Given the description of an element on the screen output the (x, y) to click on. 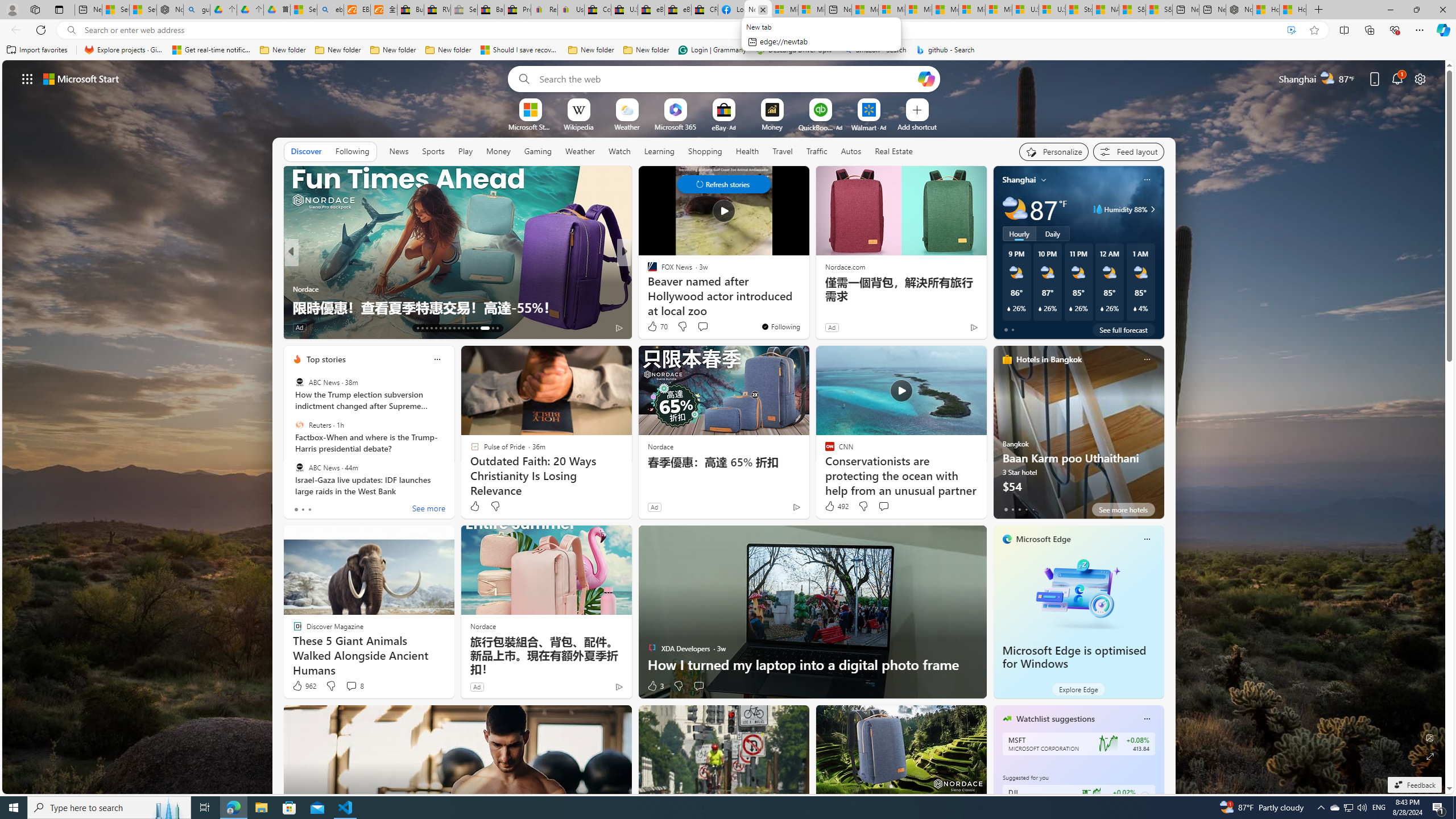
Notifications (1397, 78)
tab-0 (1005, 509)
Play (465, 151)
AutomationID: tab-20 (449, 328)
Sports (432, 151)
Class: weather-current-precipitation-glyph (1134, 308)
Ad (476, 686)
Personalize your feed" (1054, 151)
AutomationID: tab-32 (476, 328)
Watchlist suggestions (1055, 718)
